Given the description of an element on the screen output the (x, y) to click on. 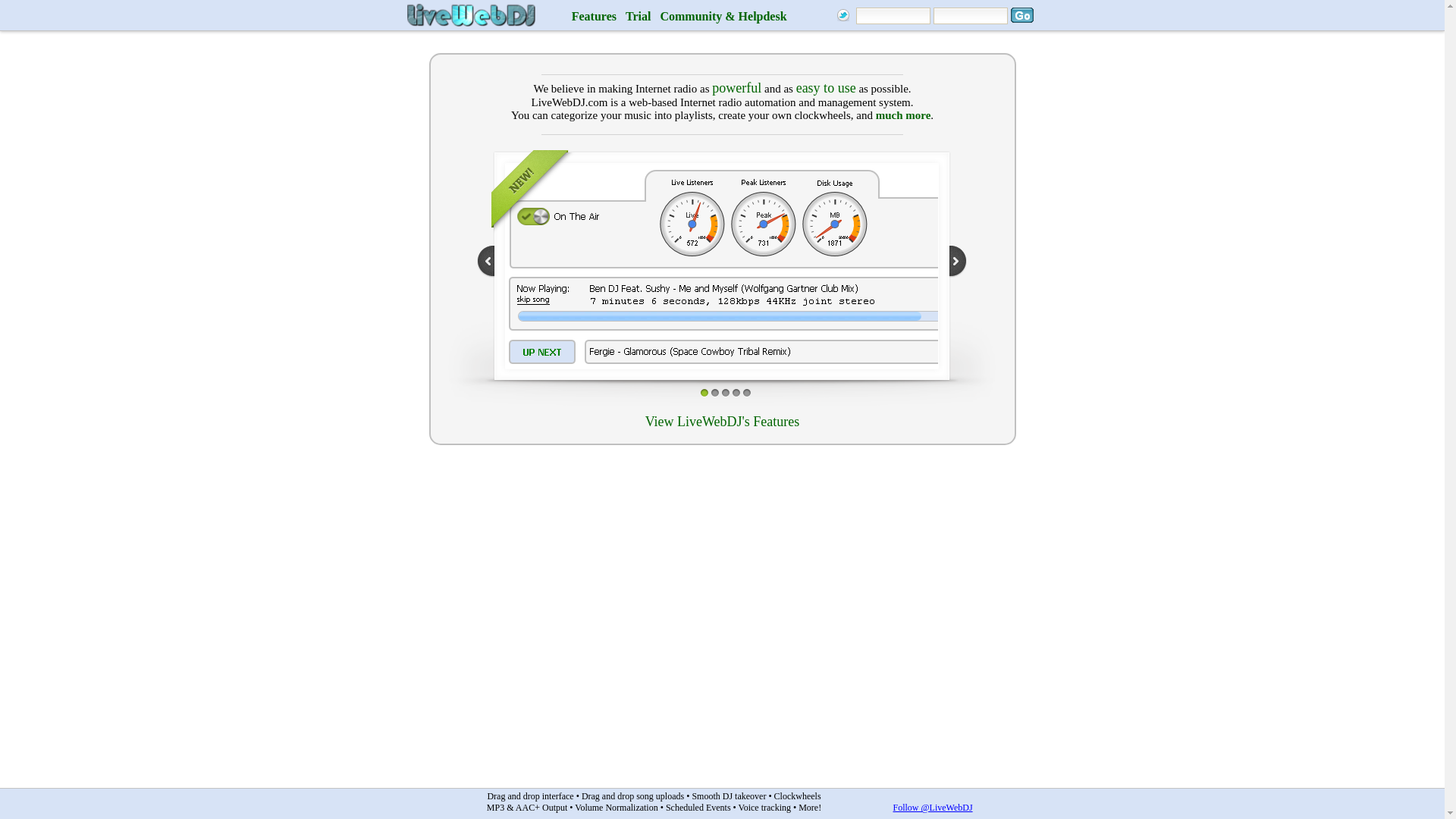
3 (724, 392)
1 (702, 392)
much more (903, 114)
2 (714, 392)
Trial (638, 15)
Login Button (1021, 14)
5 (746, 392)
4 (734, 392)
View LiveWebDJ's Features (722, 422)
Enter Your Password Here (970, 15)
